Given the description of an element on the screen output the (x, y) to click on. 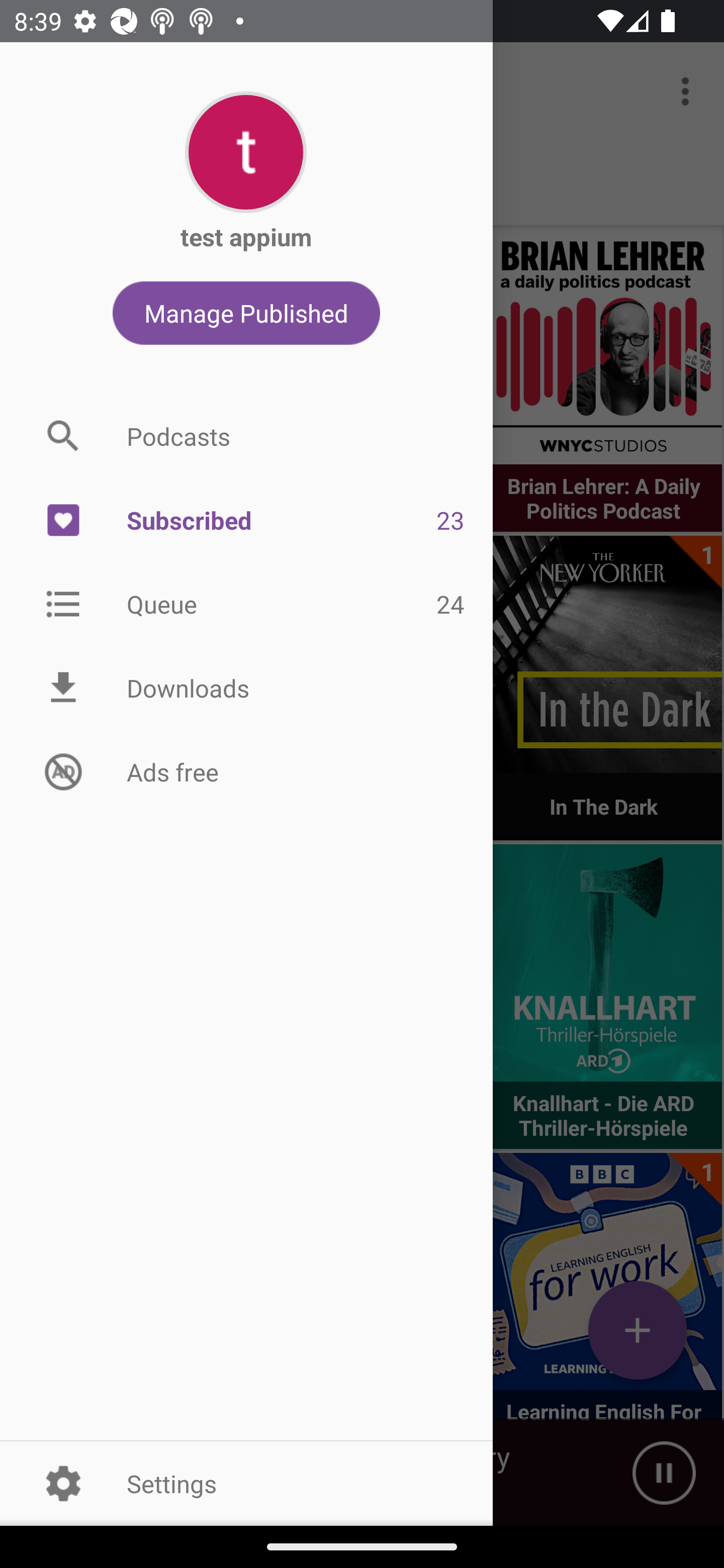
Manage Published (246, 312)
Picture Podcasts (246, 435)
Picture Subscribed 23 (246, 520)
Picture Queue 24 (246, 603)
Picture Downloads (246, 688)
Picture Ads free (246, 771)
Settings Picture Settings (246, 1482)
